Given the description of an element on the screen output the (x, y) to click on. 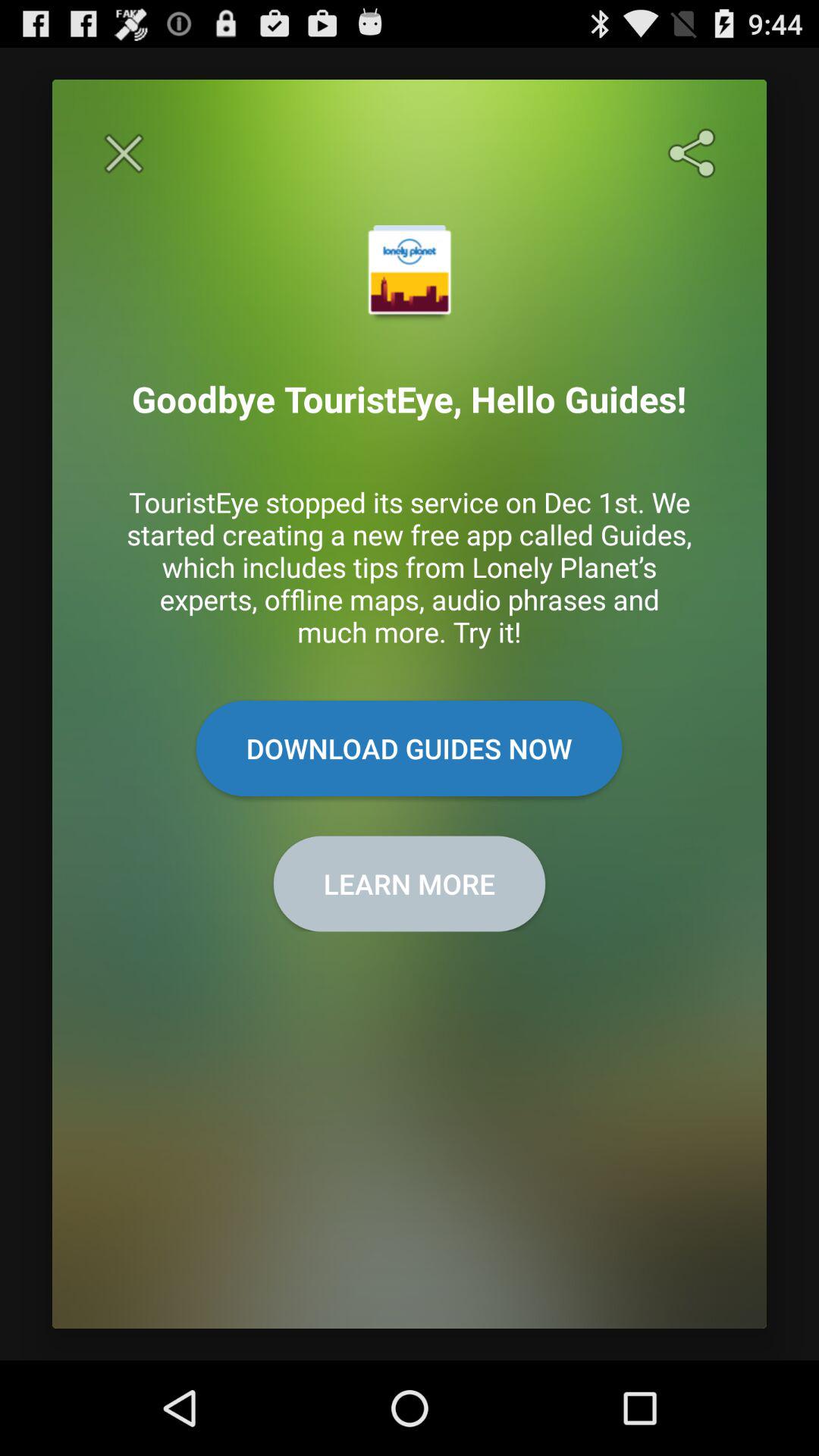
share app (694, 153)
